Given the description of an element on the screen output the (x, y) to click on. 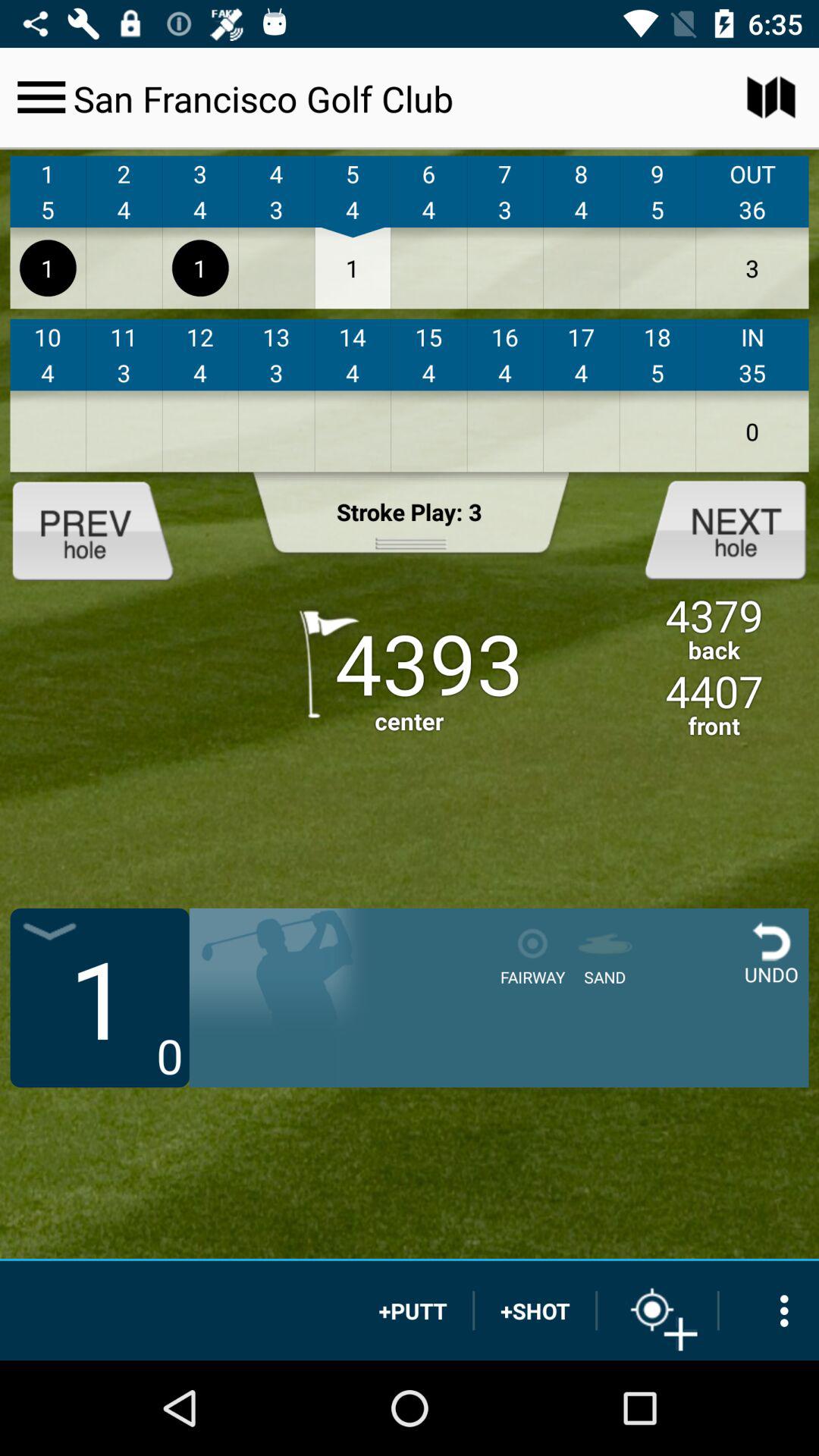
go to next (712, 528)
